Given the description of an element on the screen output the (x, y) to click on. 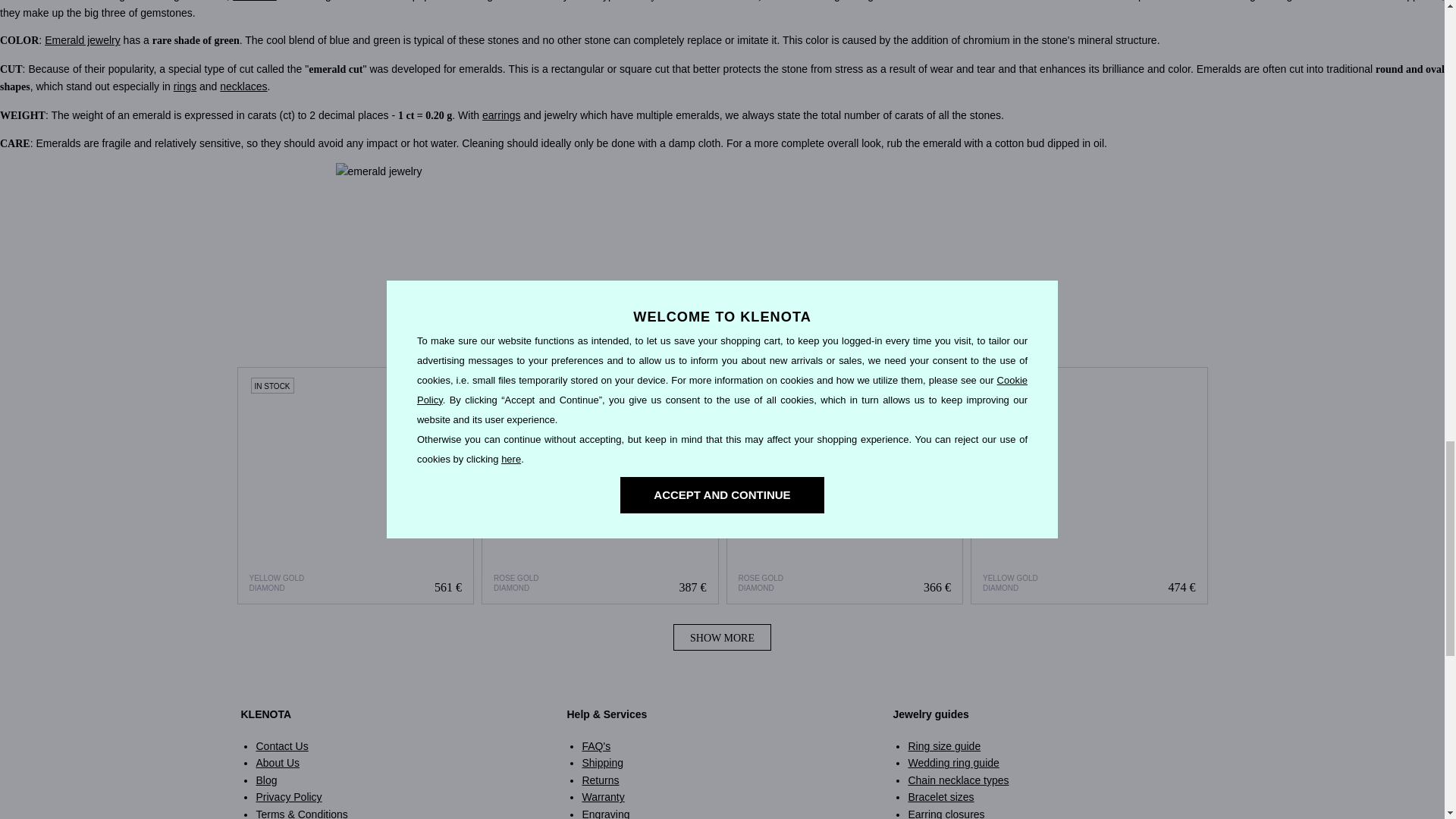
Diamond Children's Earrings (354, 485)
Heart-shaped Children's Earrings with Diamonds in Rose Gold (599, 485)
Sharmrock Diamond Pendant Earrings in Yellow Gold (1089, 485)
Heart-shaped Children's Earrings with Diamonds in Rose Gold (600, 485)
Sharmrock Diamond Pendant Earrings in Yellow Gold (1089, 485)
Diamond Children's Earrings (356, 485)
